Given the description of an element on the screen output the (x, y) to click on. 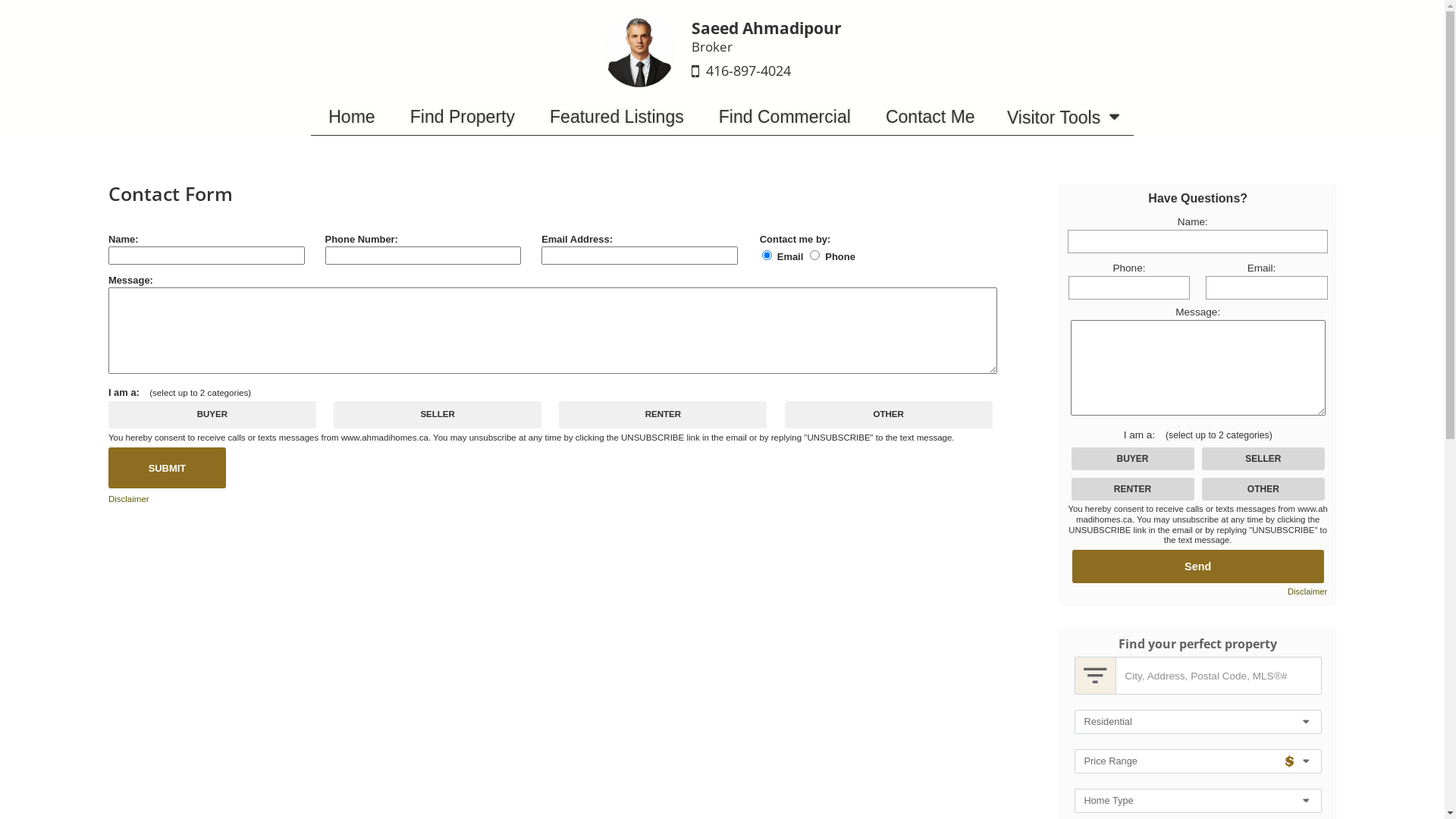
Residential Element type: text (1197, 721)
Home Element type: text (351, 116)
SUBMIT Element type: text (166, 467)
BUYER Element type: text (4, 4)
Send Element type: text (1198, 566)
Disclaimer Element type: text (1307, 591)
Search by Element type: text (1094, 675)
416-897-4024 Element type: text (748, 70)
Find Commercial Element type: text (784, 116)
Featured Listings Element type: text (616, 116)
Contact Me Element type: text (930, 116)
Find Property Element type: text (462, 116)
Home Type Element type: text (1197, 800)
Visitor Tools Element type: text (1062, 117)
Price Range Element type: text (1197, 761)
Disclaimer Element type: text (128, 498)
